Given the description of an element on the screen output the (x, y) to click on. 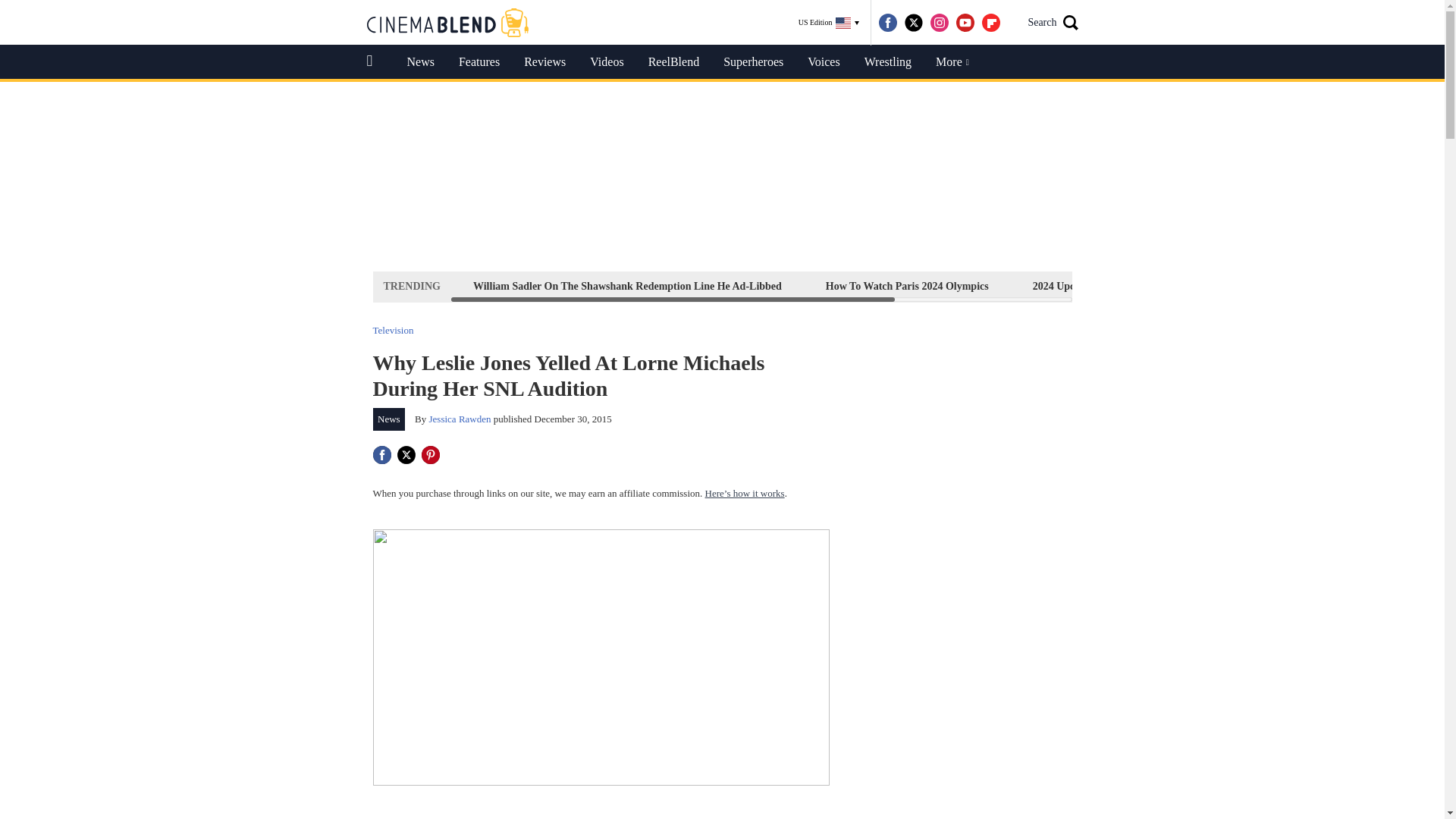
Features (479, 61)
Reviews (545, 61)
2024 Upcoming Movies (1084, 286)
Wrestling (887, 61)
How To Watch Paris 2024 Olympics (907, 286)
Superheroes (752, 61)
US Edition (828, 22)
News (389, 418)
Television (392, 329)
William Sadler On The Shawshank Redemption Line He Ad-Libbed (627, 286)
